Given the description of an element on the screen output the (x, y) to click on. 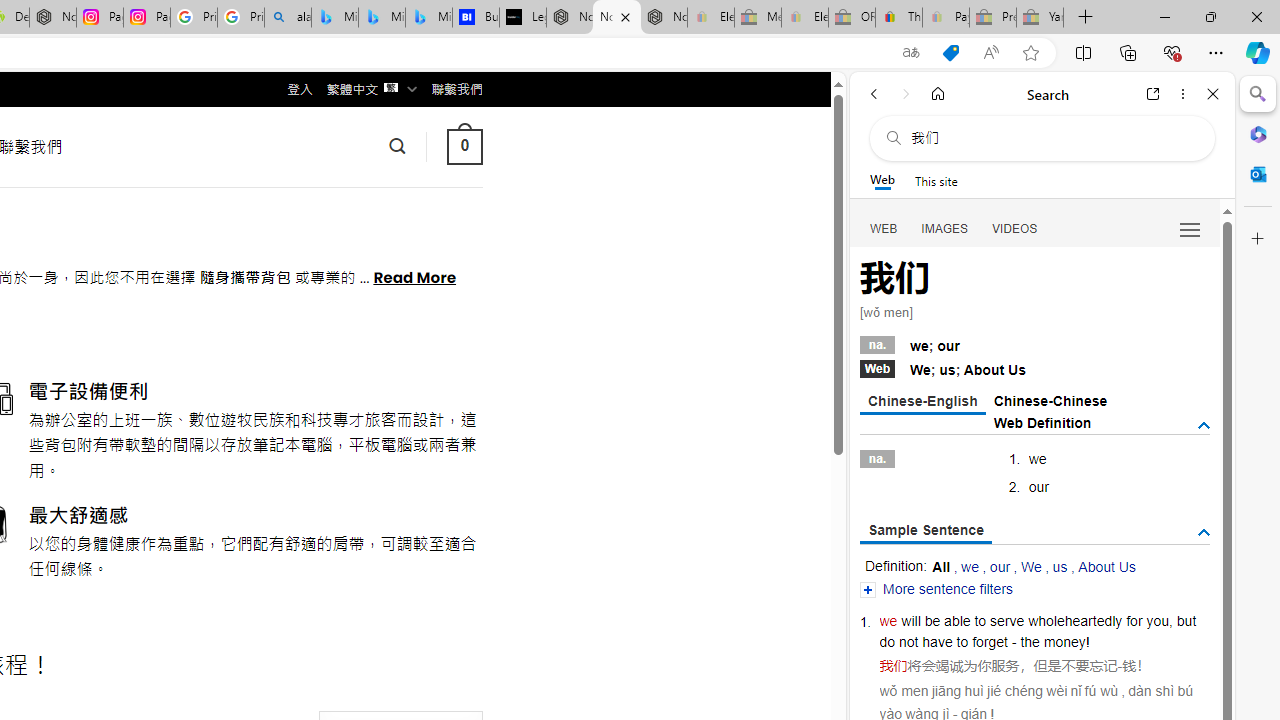
About Us (1106, 566)
Forward (906, 93)
, (1170, 620)
but (1186, 620)
IMAGES (944, 228)
- (1119, 665)
Search Filter, WEB (884, 228)
WebWe; us; About Us (1034, 367)
for (1134, 620)
